Given the description of an element on the screen output the (x, y) to click on. 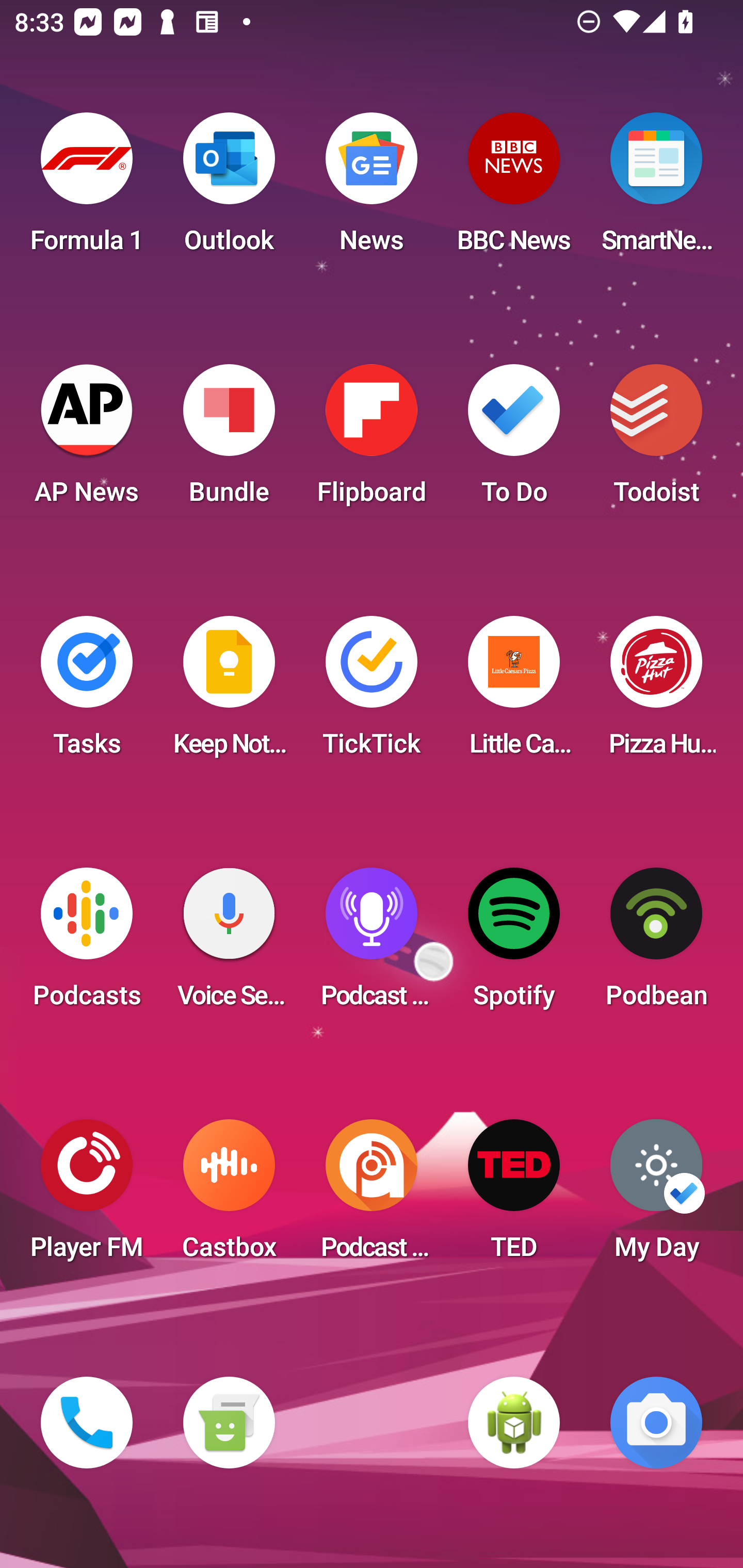
Formula 1 (86, 188)
Outlook (228, 188)
News (371, 188)
BBC News (513, 188)
SmartNews (656, 188)
AP News (86, 440)
Bundle (228, 440)
Flipboard (371, 440)
To Do (513, 440)
Todoist (656, 440)
Tasks (86, 692)
Keep Notes (228, 692)
TickTick (371, 692)
Little Caesars Pizza (513, 692)
Pizza Hut HK & Macau (656, 692)
Podcasts (86, 943)
Voice Search (228, 943)
Podcast Player (371, 943)
Spotify (513, 943)
Podbean (656, 943)
Player FM (86, 1195)
Castbox (228, 1195)
Podcast Addict (371, 1195)
TED (513, 1195)
My Day (656, 1195)
Phone (86, 1422)
Messaging (228, 1422)
WebView Browser Tester (513, 1422)
Camera (656, 1422)
